Given the description of an element on the screen output the (x, y) to click on. 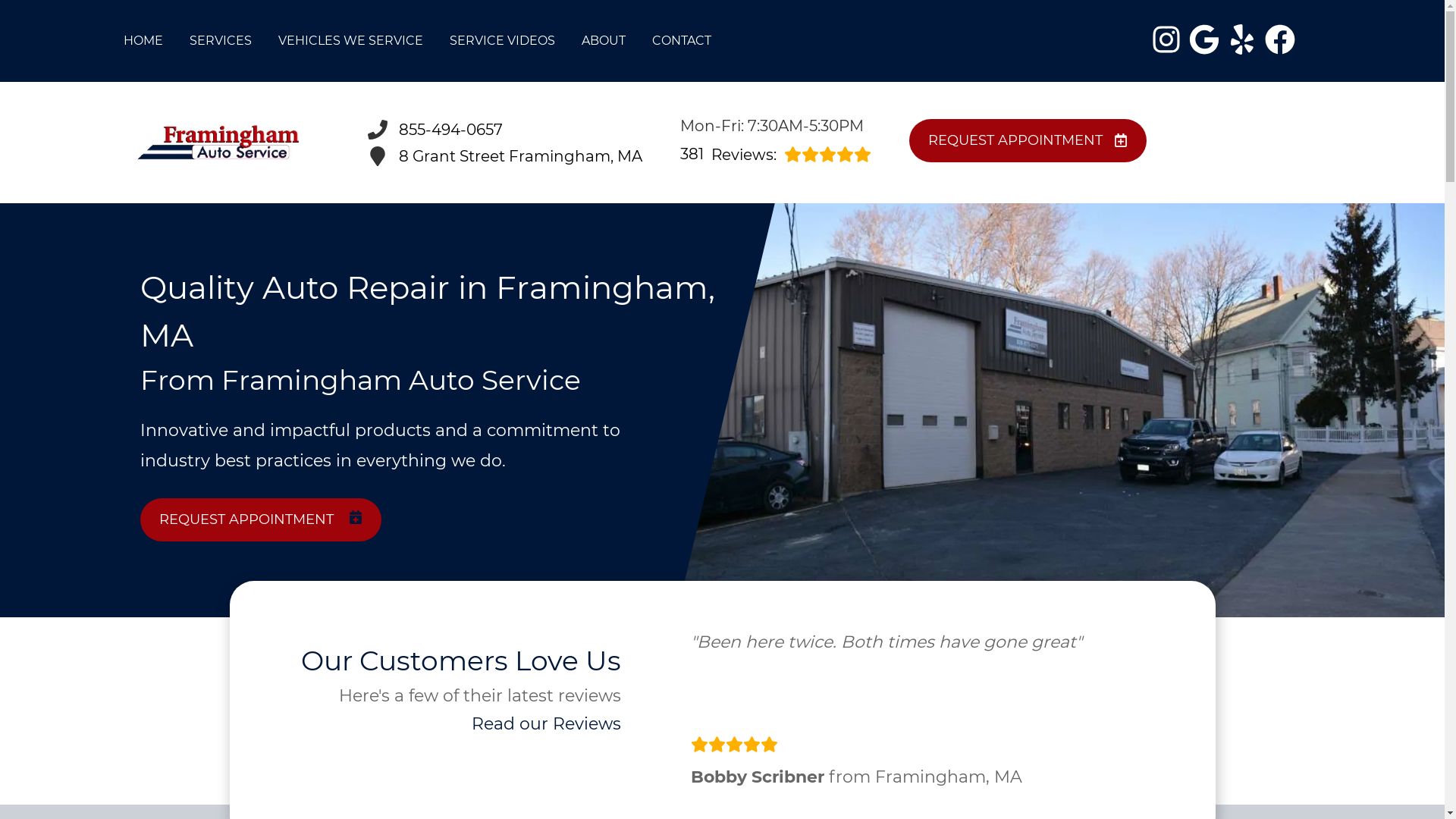
SERVICES (220, 40)
Services (220, 40)
SERVICE VIDEOS (501, 40)
HOME (141, 40)
Home (141, 40)
VEHICLES WE SERVICE (350, 40)
